Given the description of an element on the screen output the (x, y) to click on. 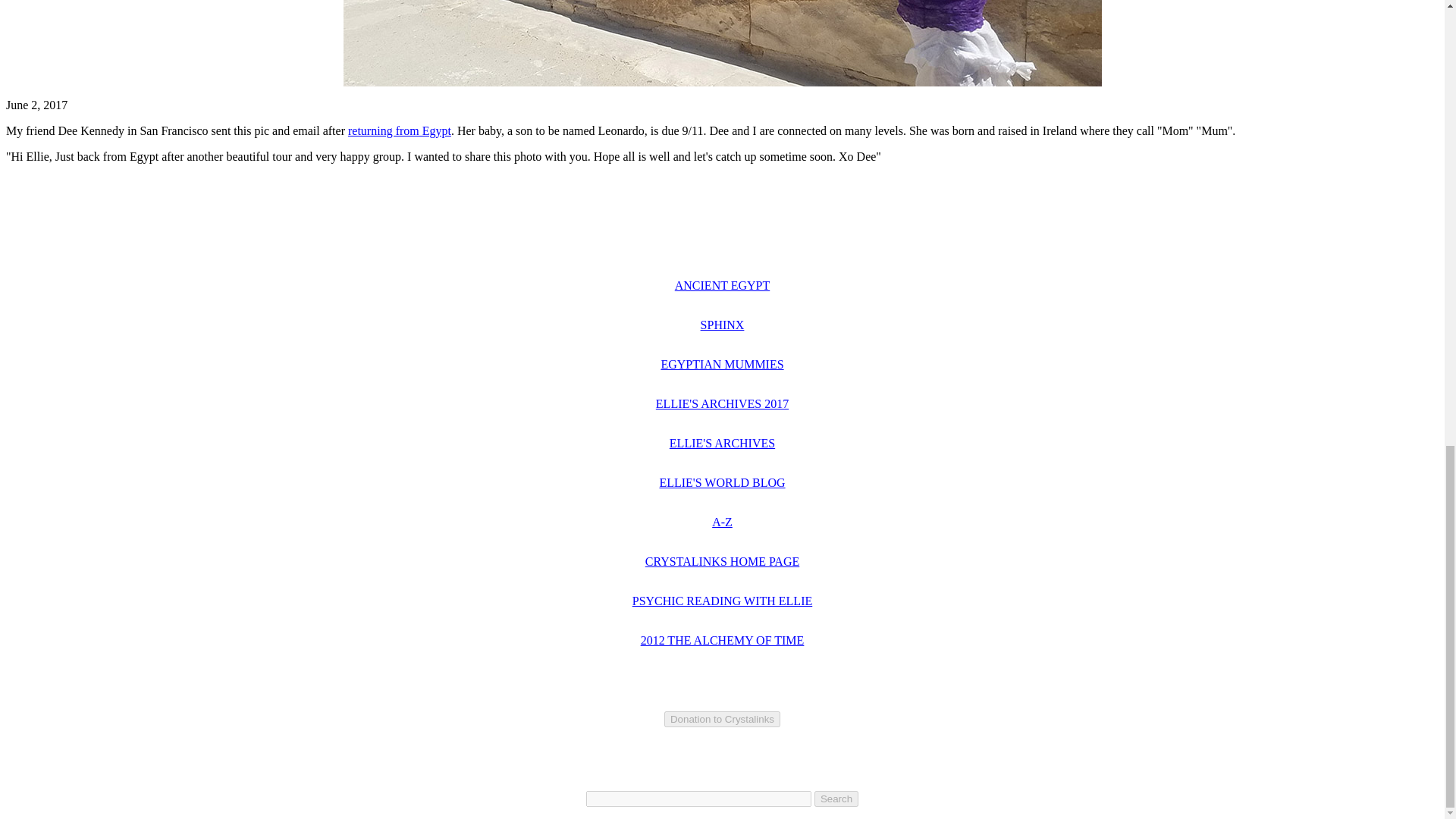
ELLIE'S WORLD BLOG (721, 481)
A-Z (721, 521)
PSYCHIC READING WITH ELLIE (721, 600)
Search (836, 798)
ANCIENT EGYPT (722, 285)
ELLIE'S ARCHIVES 2017 (722, 403)
CRYSTALINKS HOME PAGE (722, 561)
ELLIE'S ARCHIVES (721, 442)
SPHINX (722, 324)
2012 THE ALCHEMY OF TIME (722, 640)
